Given the description of an element on the screen output the (x, y) to click on. 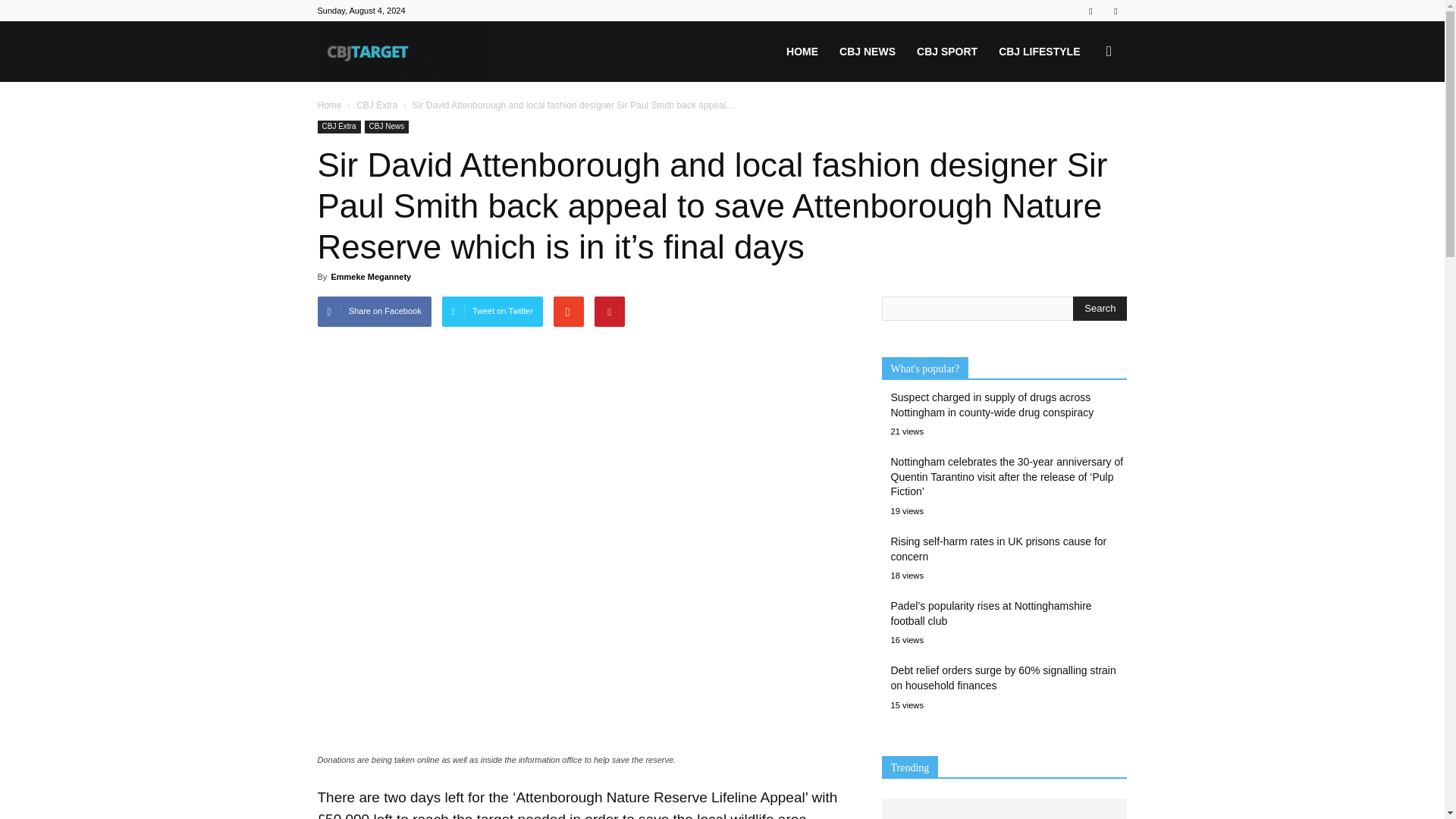
Search (1085, 124)
CBJ Extra (338, 126)
Search (1099, 308)
Twitter (1114, 10)
CBJ Extra (376, 104)
CBJ SPORT (946, 51)
View all posts in CBJ Extra (376, 104)
Share on Facebook (373, 311)
Emmeke Megannety (370, 276)
Search (1099, 308)
CBJ News (387, 126)
Tweet on Twitter (492, 311)
Nottingham Harmonic choir prepares for annual autumn concert (1003, 800)
CBJ LIFESTYLE (1039, 51)
CBJ NEWS (866, 51)
